Given the description of an element on the screen output the (x, y) to click on. 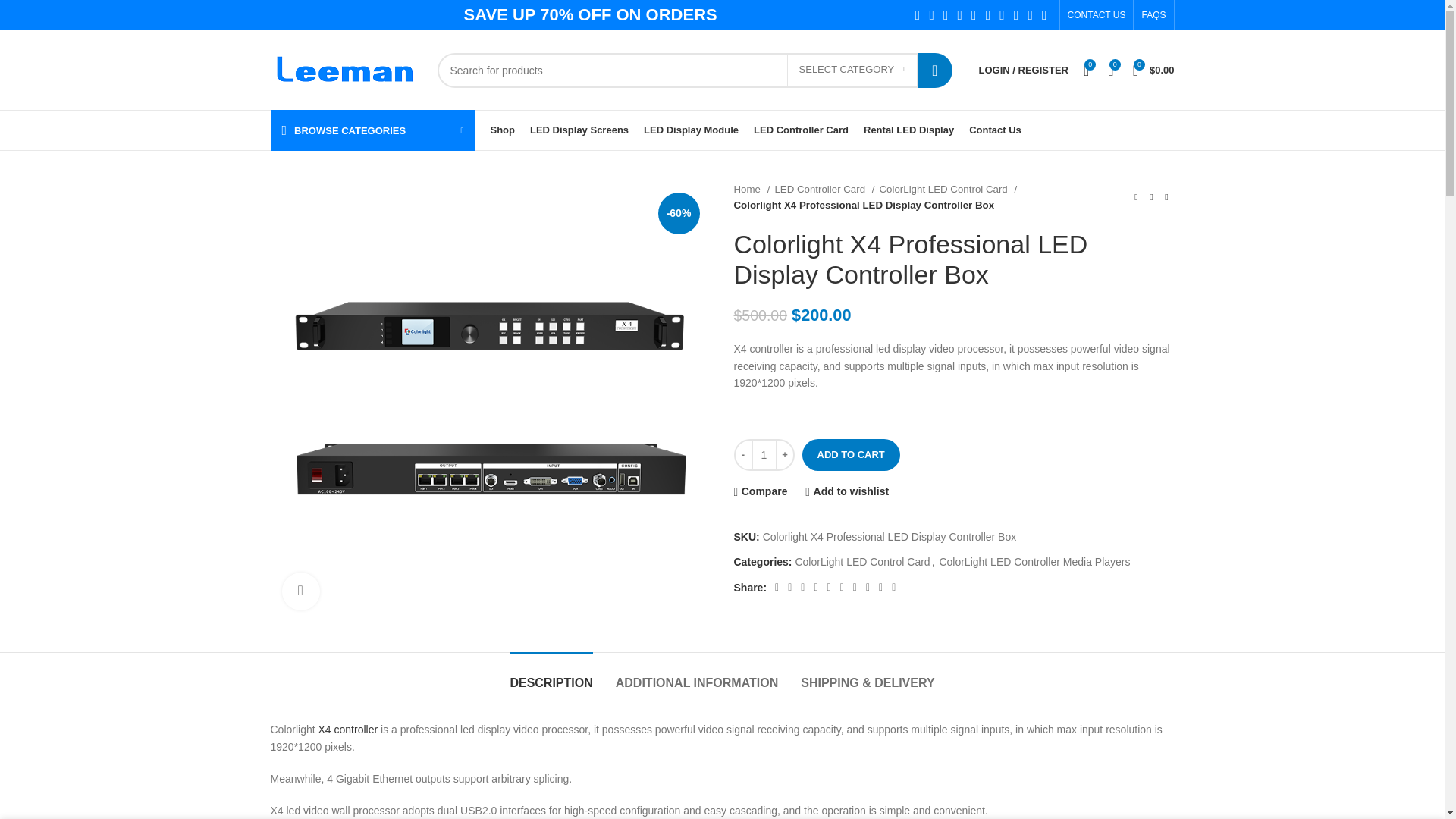
SELECT CATEGORY (852, 70)
CONTACT US (1096, 15)
My account (1023, 69)
Search for products (694, 70)
Shopping cart (1153, 69)
SELECT CATEGORY (852, 70)
